Given the description of an element on the screen output the (x, y) to click on. 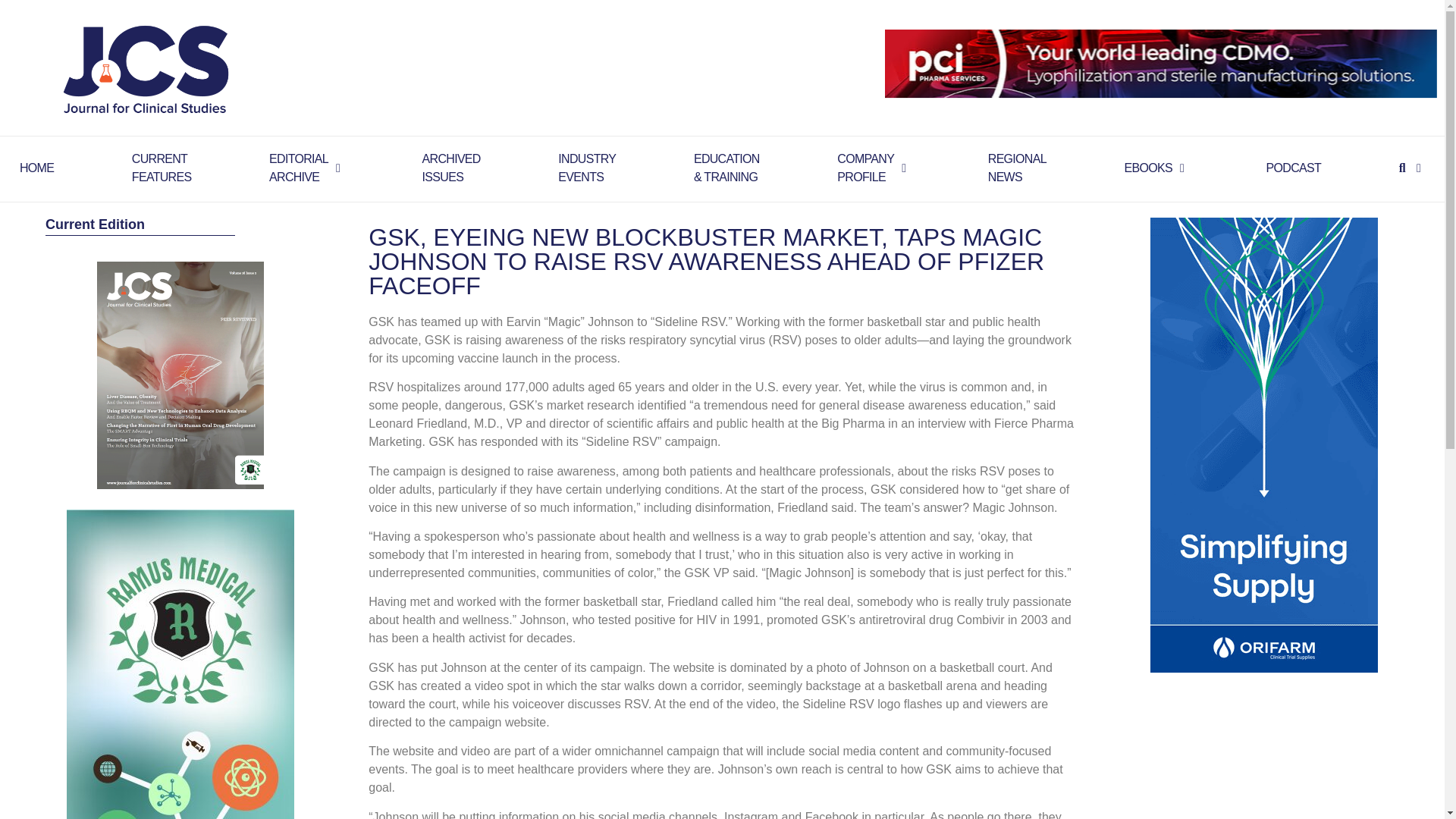
HOME (36, 167)
